Given the description of an element on the screen output the (x, y) to click on. 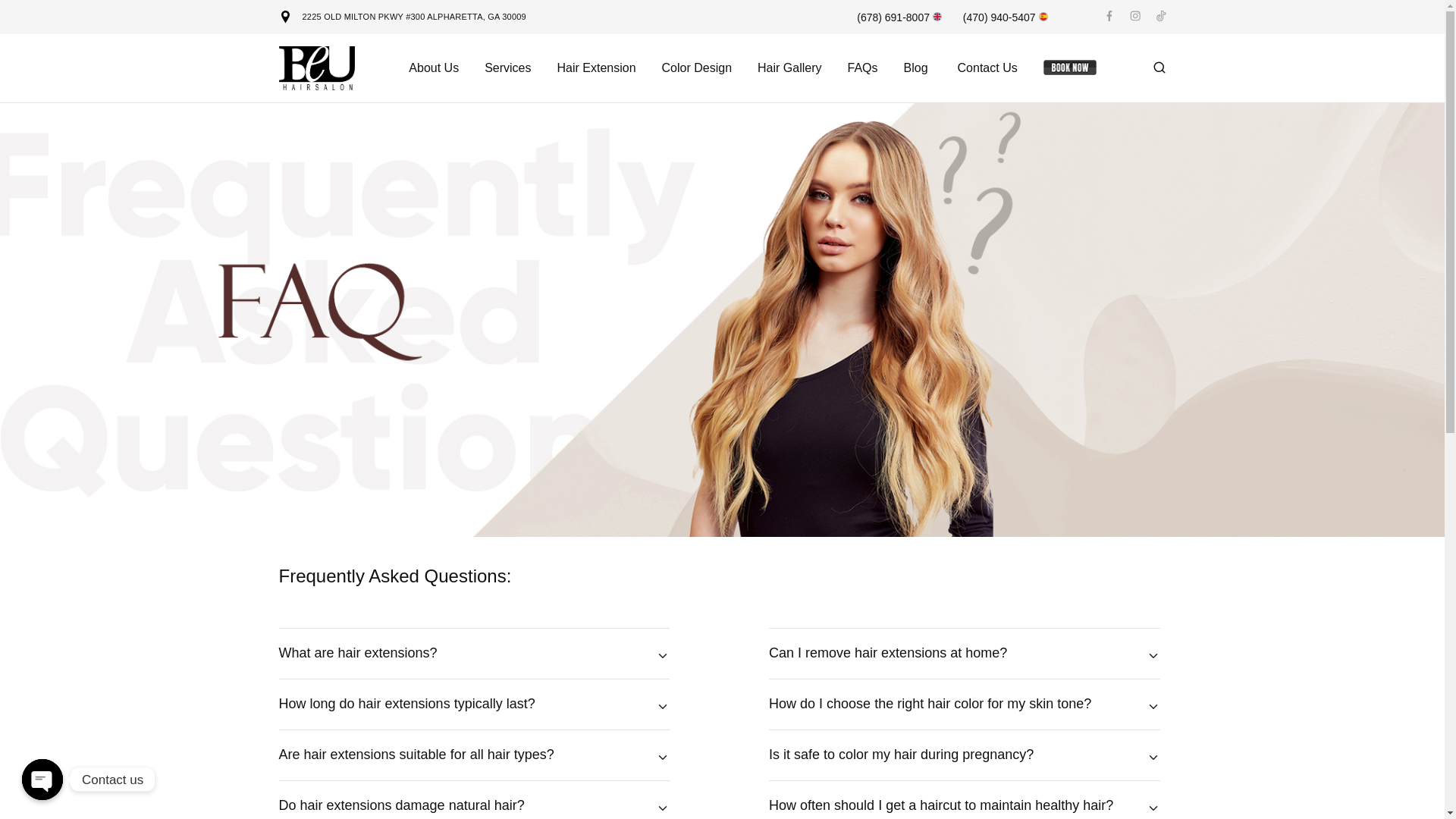
About Us (433, 67)
FAQs (861, 67)
Contact Us (987, 67)
Hair Extension (596, 67)
Services (506, 67)
Blog (915, 67)
Hair Gallery (789, 67)
Color Design (696, 67)
